Given the description of an element on the screen output the (x, y) to click on. 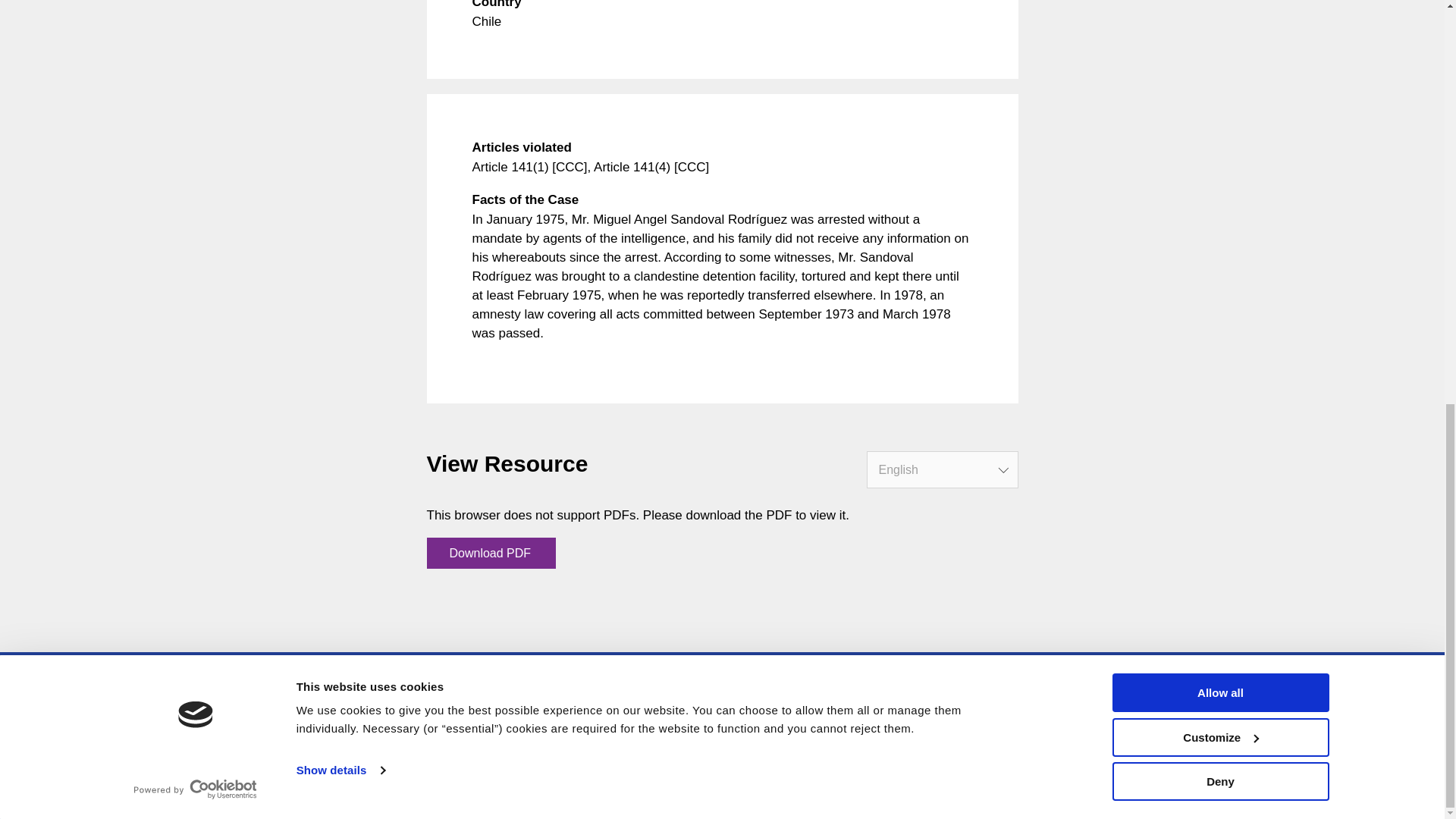
Deny (1219, 2)
